Given the description of an element on the screen output the (x, y) to click on. 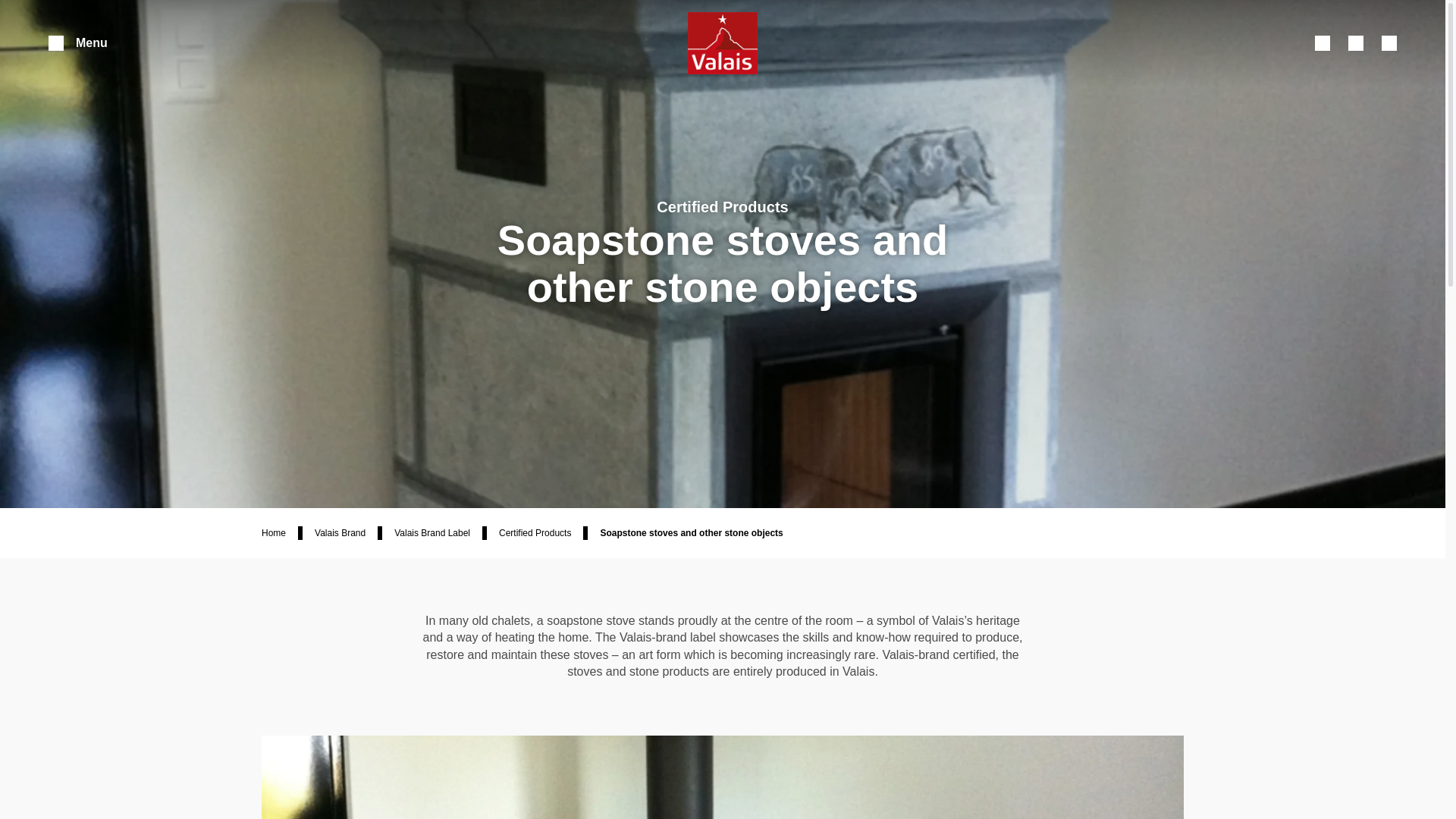
Search (1322, 42)
Show interactive map (1389, 42)
Shopping cart (1356, 42)
Shopping cart (1356, 42)
Menu (77, 42)
